Given the description of an element on the screen output the (x, y) to click on. 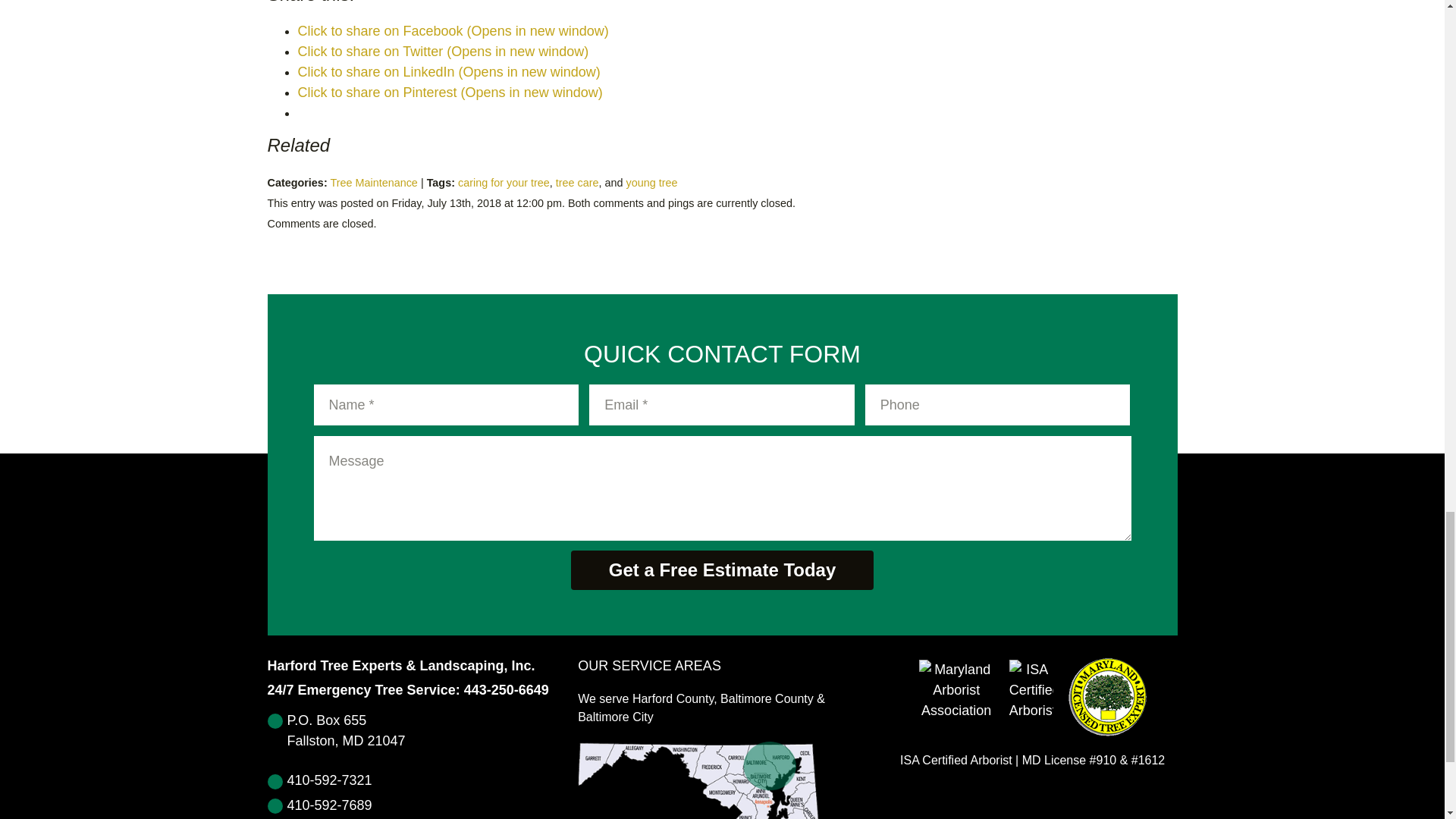
Tree Maintenance (373, 182)
Click to share on Pinterest (449, 92)
Get a Free Estimate Today (721, 569)
Click to share on Twitter (442, 51)
Maryland Licensed Tree Expert (1107, 697)
young tree (652, 182)
map of MD (722, 780)
tree care (577, 182)
Click to share on LinkedIn (448, 71)
Click to share on Facebook (452, 30)
